Given the description of an element on the screen output the (x, y) to click on. 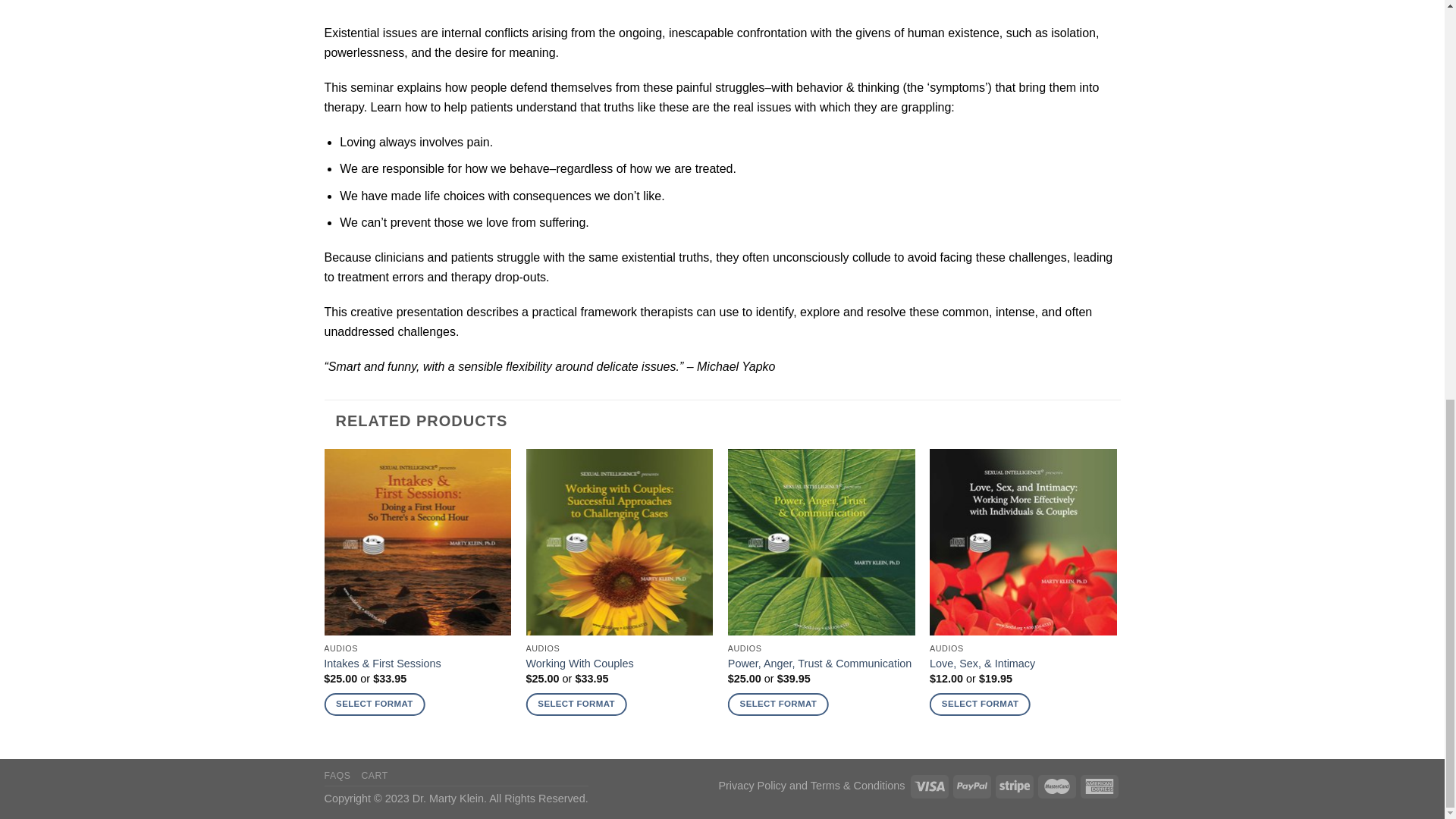
SELECT FORMAT (374, 703)
ADDITIONAL INFORMATION (470, 5)
DESCRIPTION (358, 5)
